Given the description of an element on the screen output the (x, y) to click on. 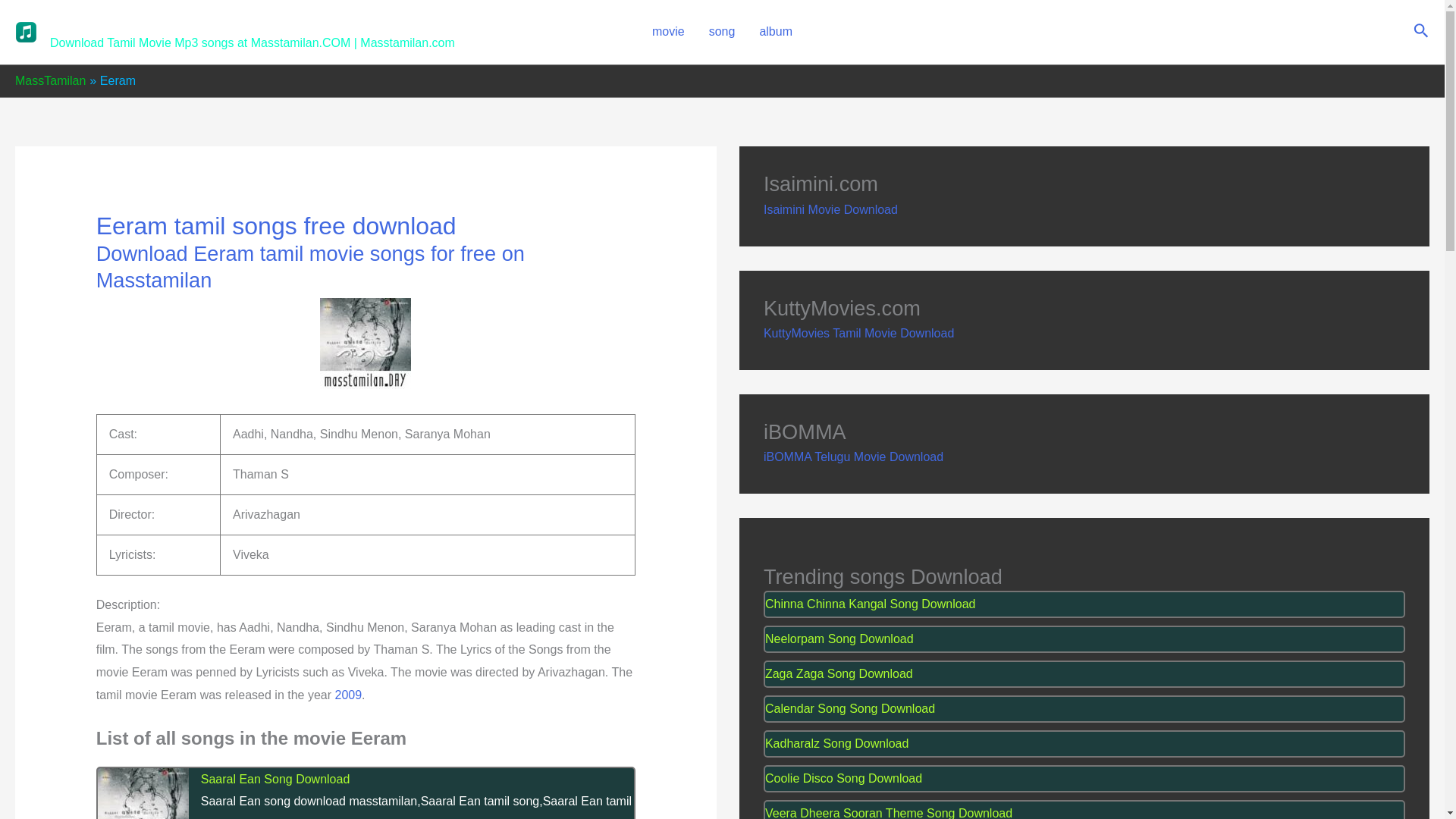
iBOMMA Telugu Movie Download (852, 456)
movie (668, 31)
Saaral Ean Song Download (365, 779)
album (775, 31)
Isaimini Movie Download (830, 209)
KuttyMovies Tamil Movie Download (857, 332)
Chinna Chinna Kangal Song Download (1084, 604)
Download Eeram tamil movie songs for free on Masstamilan (310, 266)
Eeram tamil songs free download (276, 225)
MassTamilan (49, 80)
2009 (348, 694)
Masstamilan - Tamil Songs Download (211, 22)
